Given the description of an element on the screen output the (x, y) to click on. 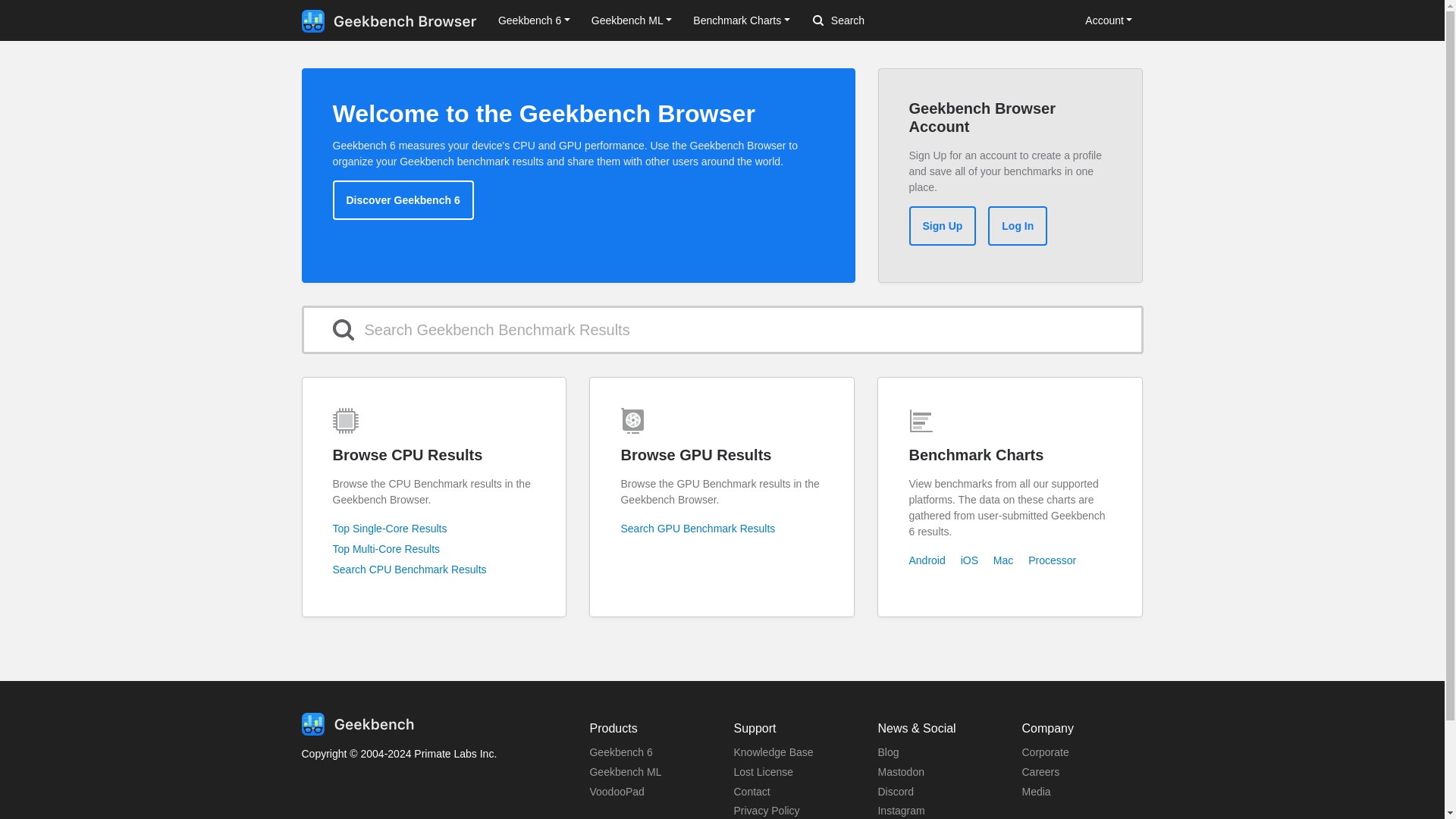
Top Multi-Core Results (385, 549)
Geekbench 6 (620, 752)
VoodooPad (616, 791)
Log In (1017, 225)
Contact (751, 791)
Account (1108, 20)
iOS (969, 560)
Android (926, 560)
Processor (1051, 560)
Benchmark Charts (741, 20)
Lost License (763, 771)
Knowledge Base (772, 752)
Sign Up (941, 225)
Search CPU Benchmark Results (408, 569)
Search GPU Benchmark Results (697, 528)
